Given the description of an element on the screen output the (x, y) to click on. 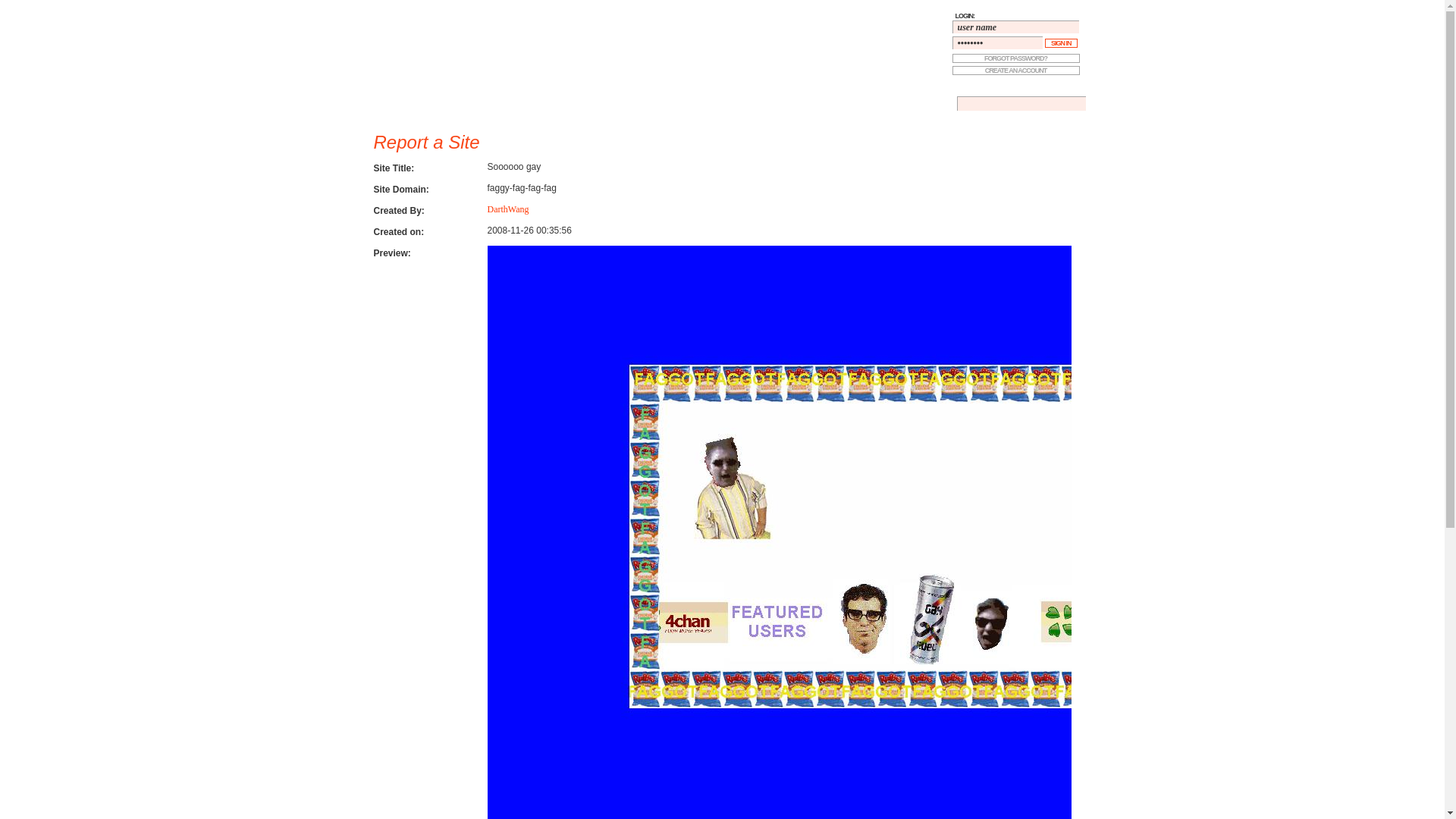
sign in (1061, 41)
DarthWang (507, 208)
FORGOT PASSWORD? (1016, 57)
news (633, 103)
wiki (922, 103)
CREATE AN ACCOUNT (1016, 69)
users (580, 103)
password (997, 42)
contest (691, 103)
go (7, 4)
